Given the description of an element on the screen output the (x, y) to click on. 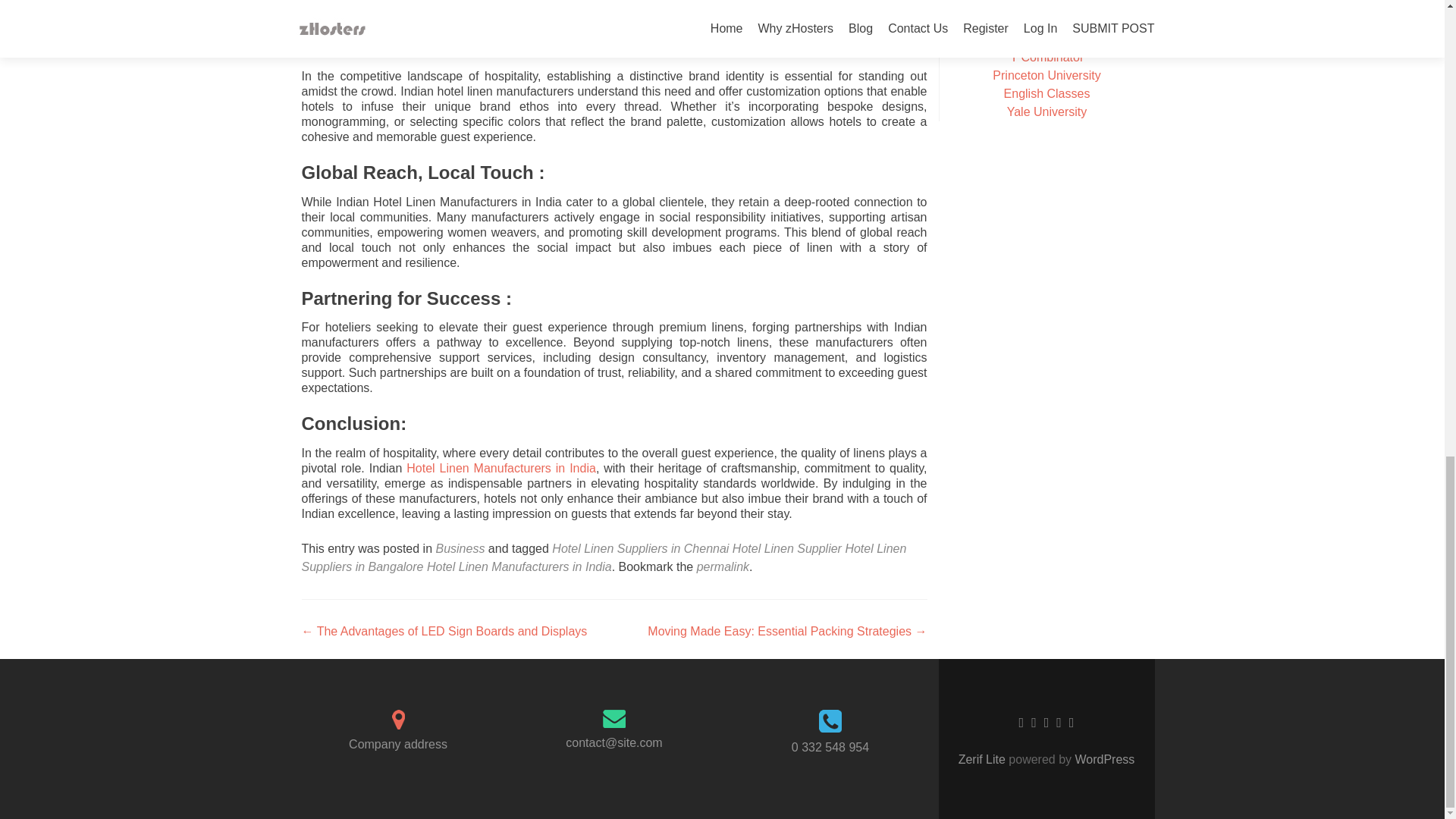
Y Combinator (1047, 56)
Hotel Linen Manufacturers in India (500, 468)
Princeton University (1046, 74)
English Classes (1047, 92)
Harvard (1046, 20)
Best Training Institute (1046, 38)
Business (459, 548)
permalink (723, 566)
